Given the description of an element on the screen output the (x, y) to click on. 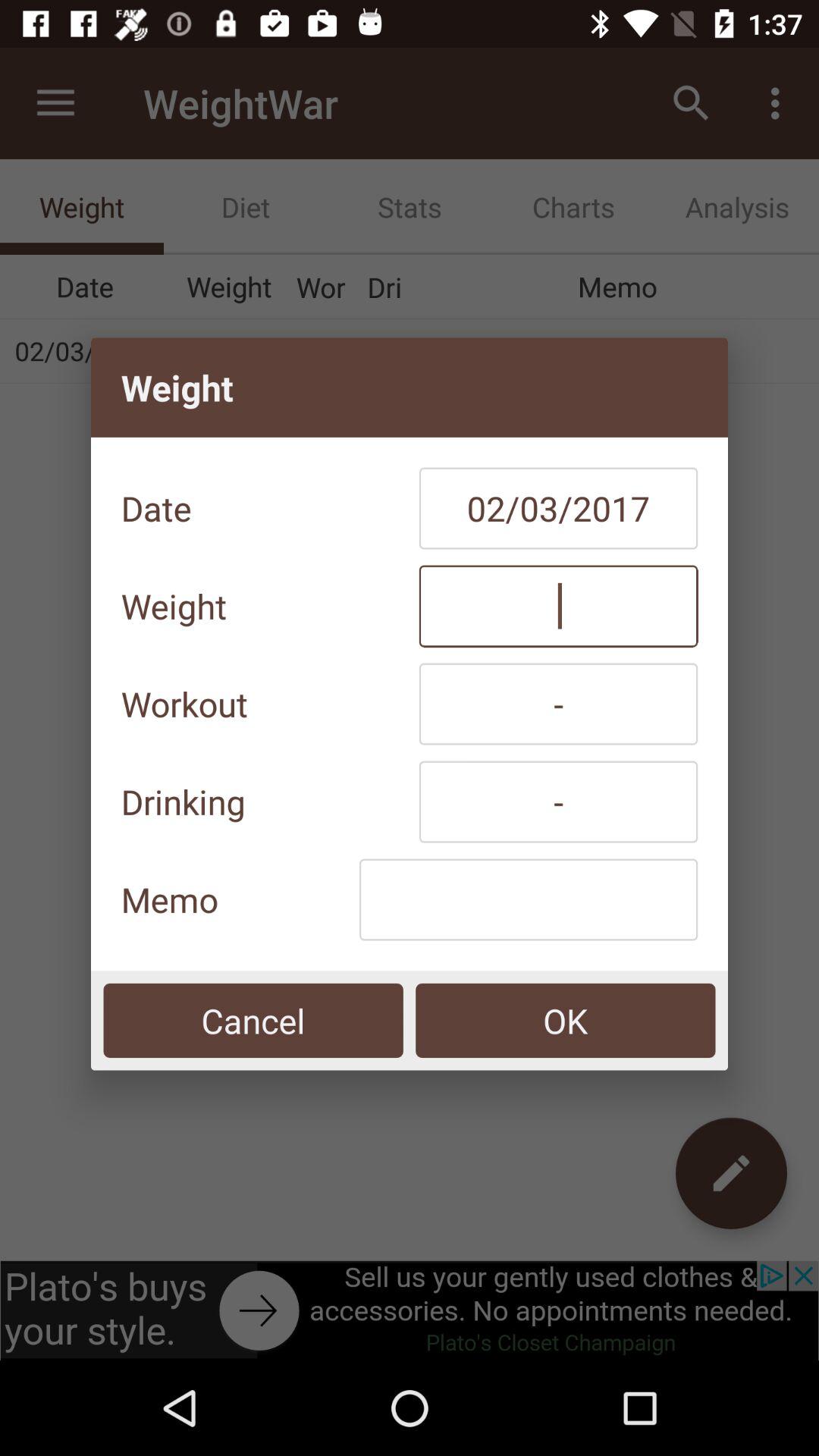
press item to the right of the drinking (558, 801)
